Given the description of an element on the screen output the (x, y) to click on. 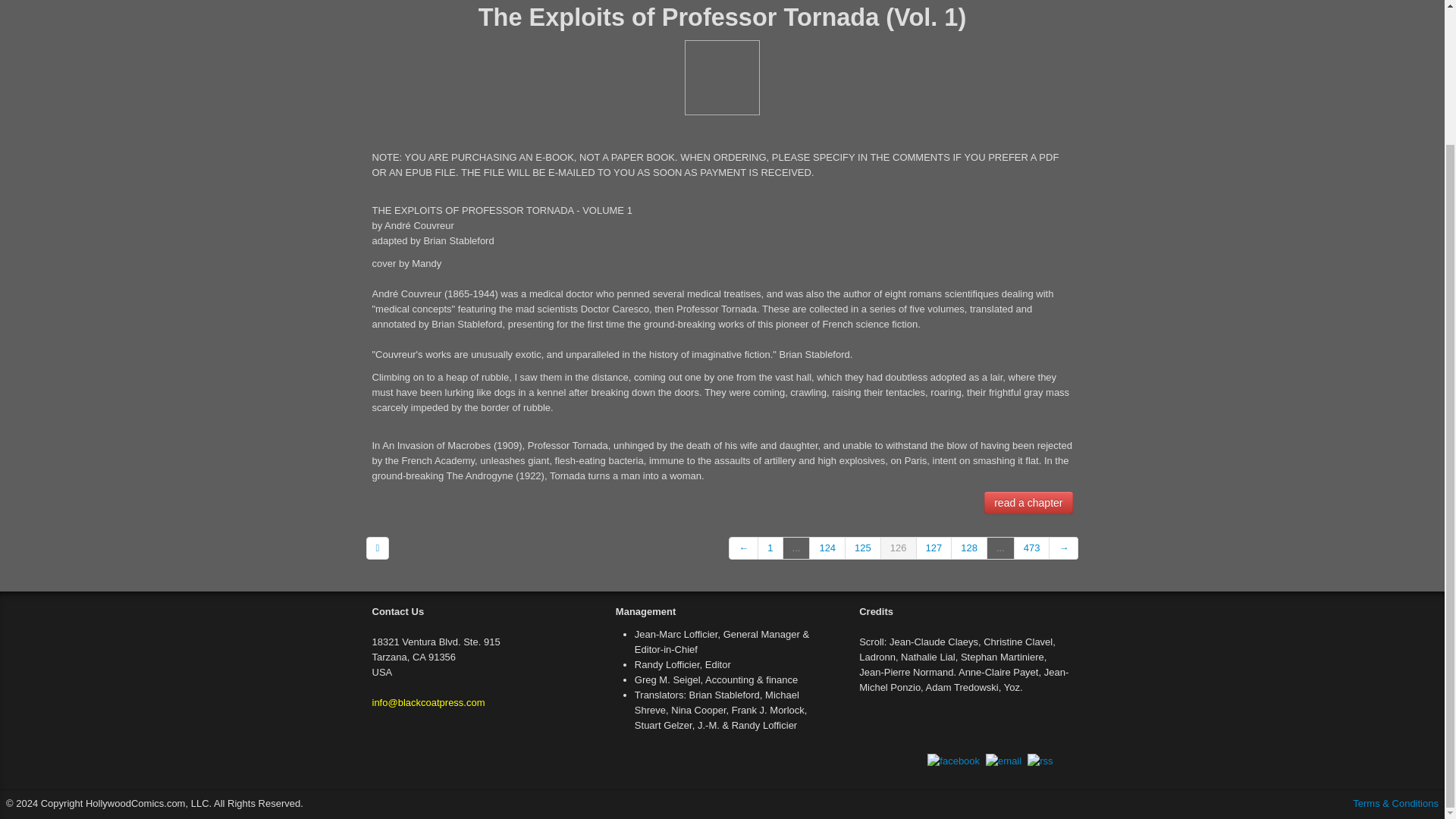
125 (862, 548)
read a chapter (1027, 502)
... (1000, 548)
... (796, 548)
126 (898, 548)
128 (969, 548)
127 (934, 548)
473 (1031, 548)
1 (770, 548)
124 (827, 548)
